Given the description of an element on the screen output the (x, y) to click on. 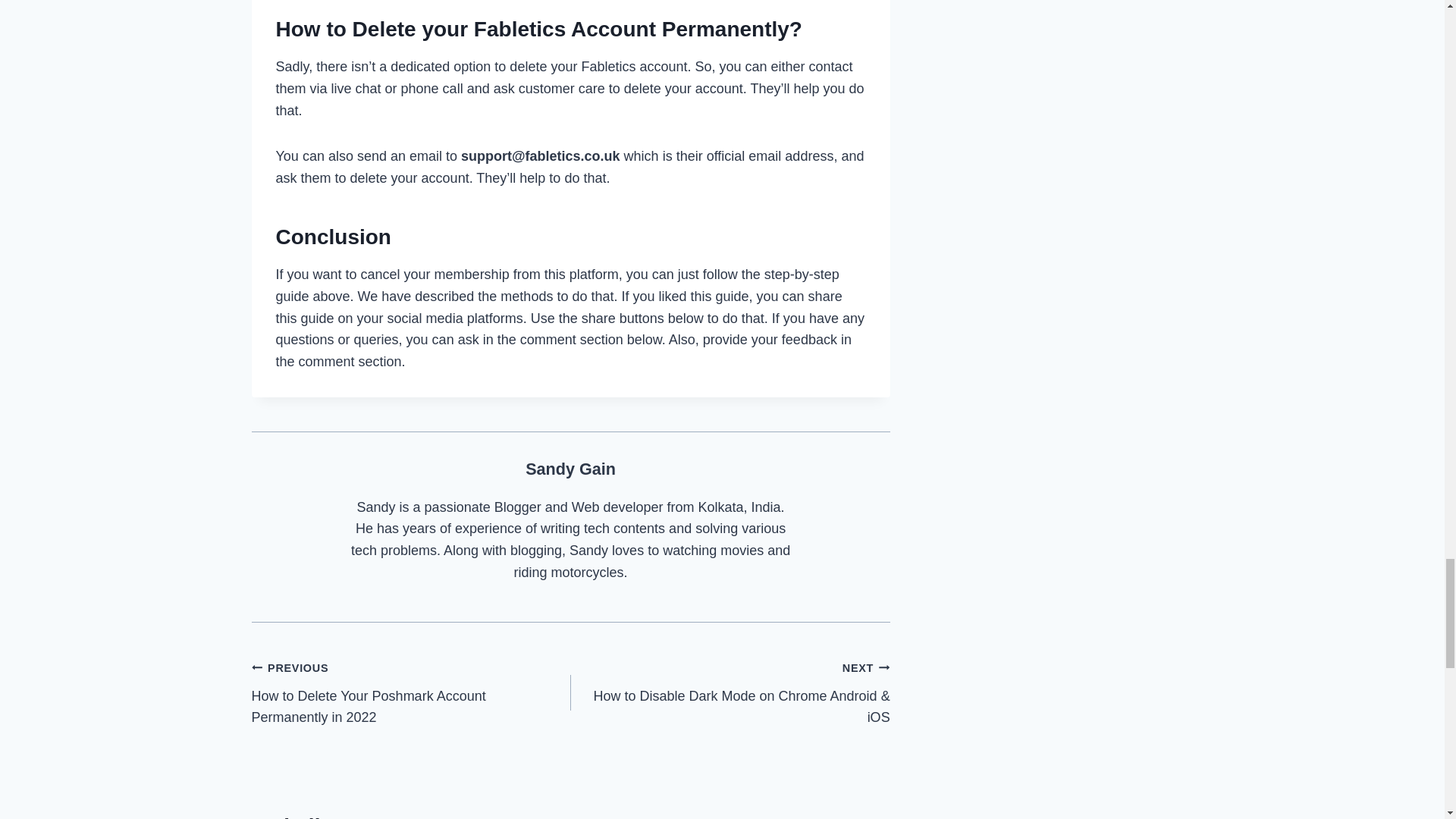
Sandy Gain (570, 468)
Posts by Sandy Gain (570, 468)
